Given the description of an element on the screen output the (x, y) to click on. 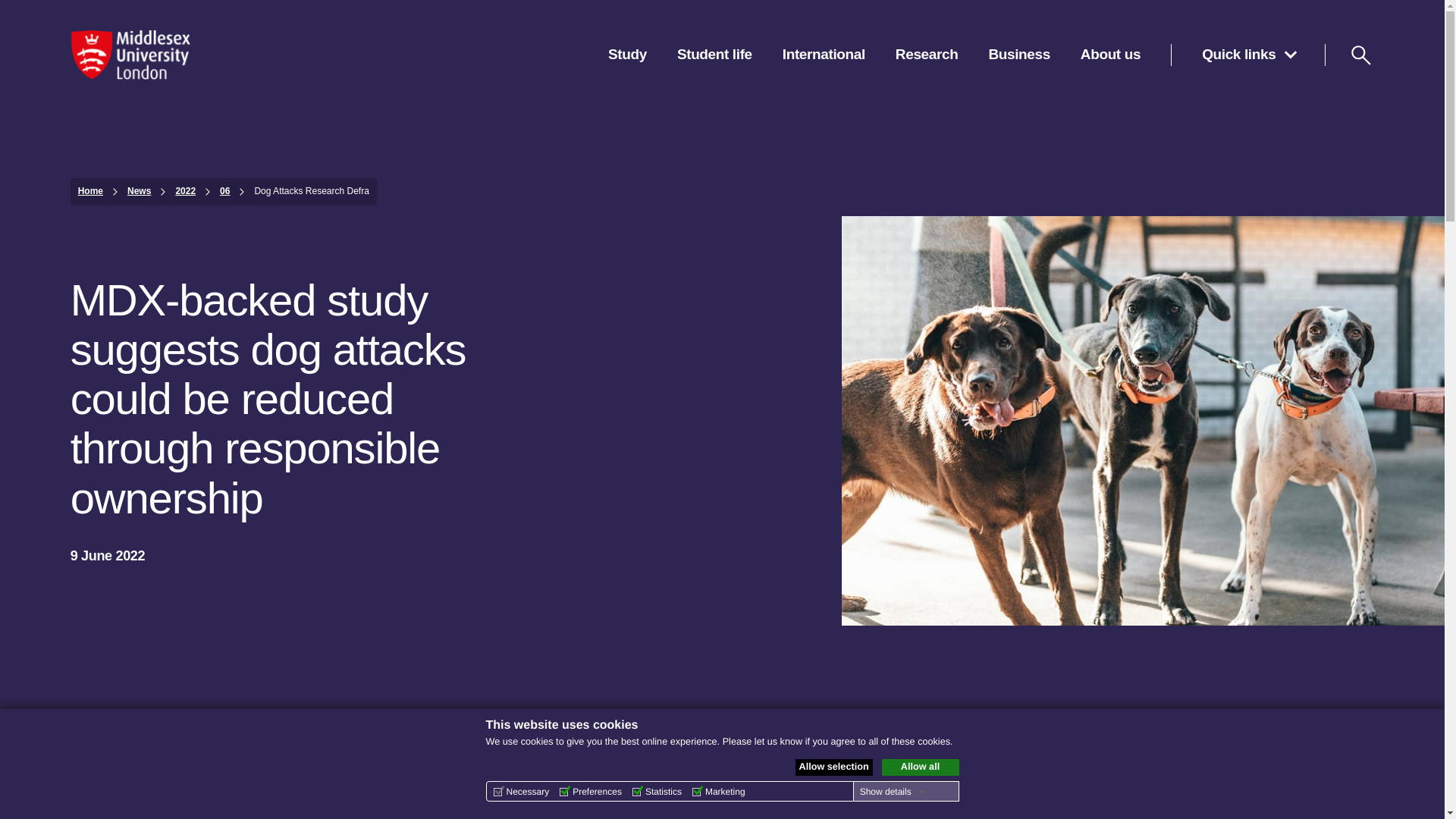
Allow selection (833, 767)
Allow all (919, 767)
Show details (893, 791)
